Given the description of an element on the screen output the (x, y) to click on. 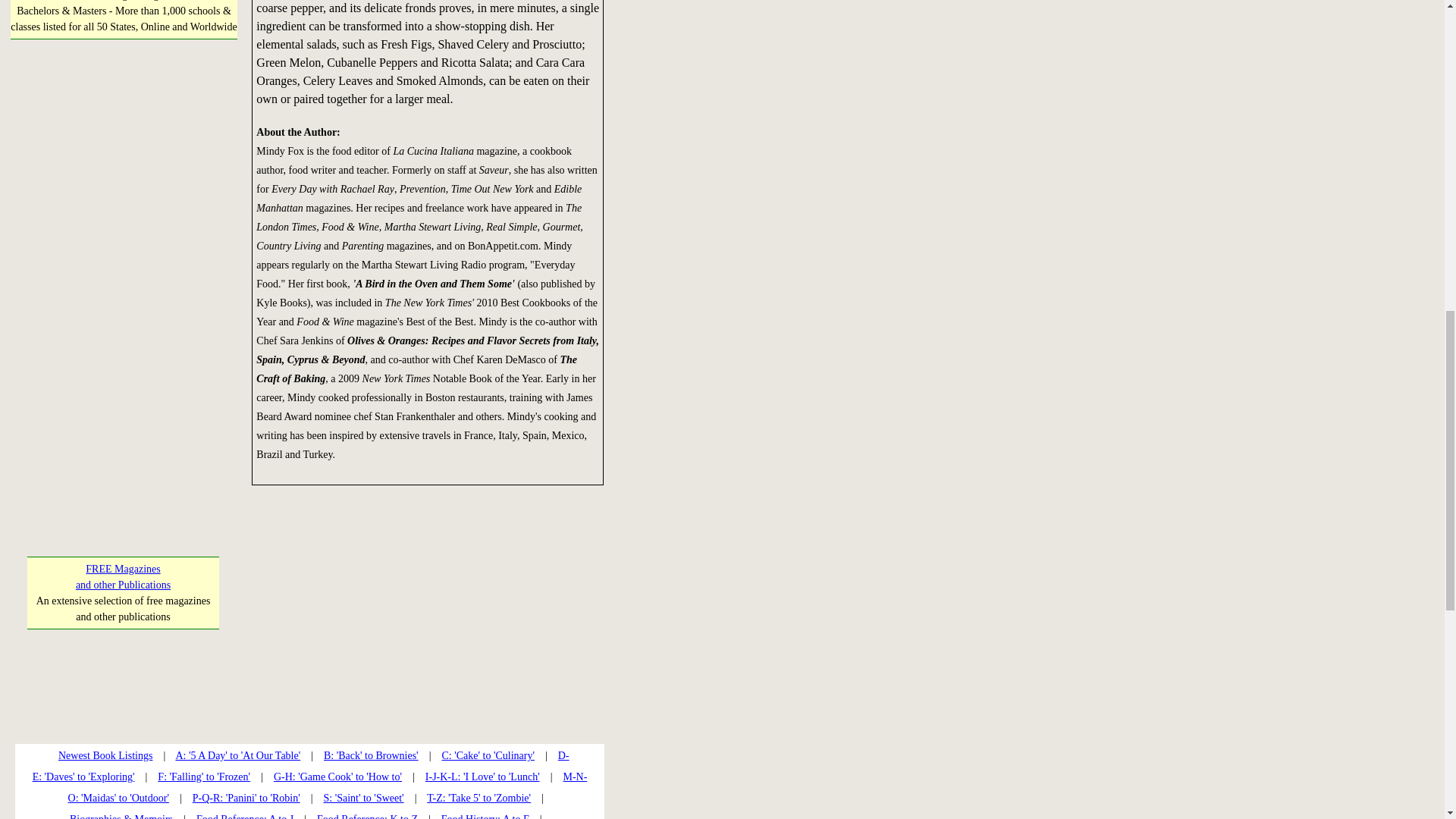
T-Z: 'Take 5' to 'Zombie' (478, 797)
D-E: 'Daves' to 'Exploring' (300, 766)
S: 'Saint' to 'Sweet' (122, 576)
I-J-K-L: 'I Love' to 'Lunch' (363, 797)
P-Q-R: 'Panini' to 'Robin' (482, 776)
G-H: 'Game Cook' to 'How to' (245, 797)
Food History: A to F (337, 776)
Advertisement (485, 816)
A: '5 A Day' to 'At Our Table' (121, 383)
M-N-O: 'Maidas' to 'Outdoor' (236, 755)
Newest Book Listings (328, 787)
C: 'Cake' to 'Culinary' (105, 755)
Food Reference: K to Z (487, 755)
F: 'Falling' to 'Frozen' (367, 816)
